Given the description of an element on the screen output the (x, y) to click on. 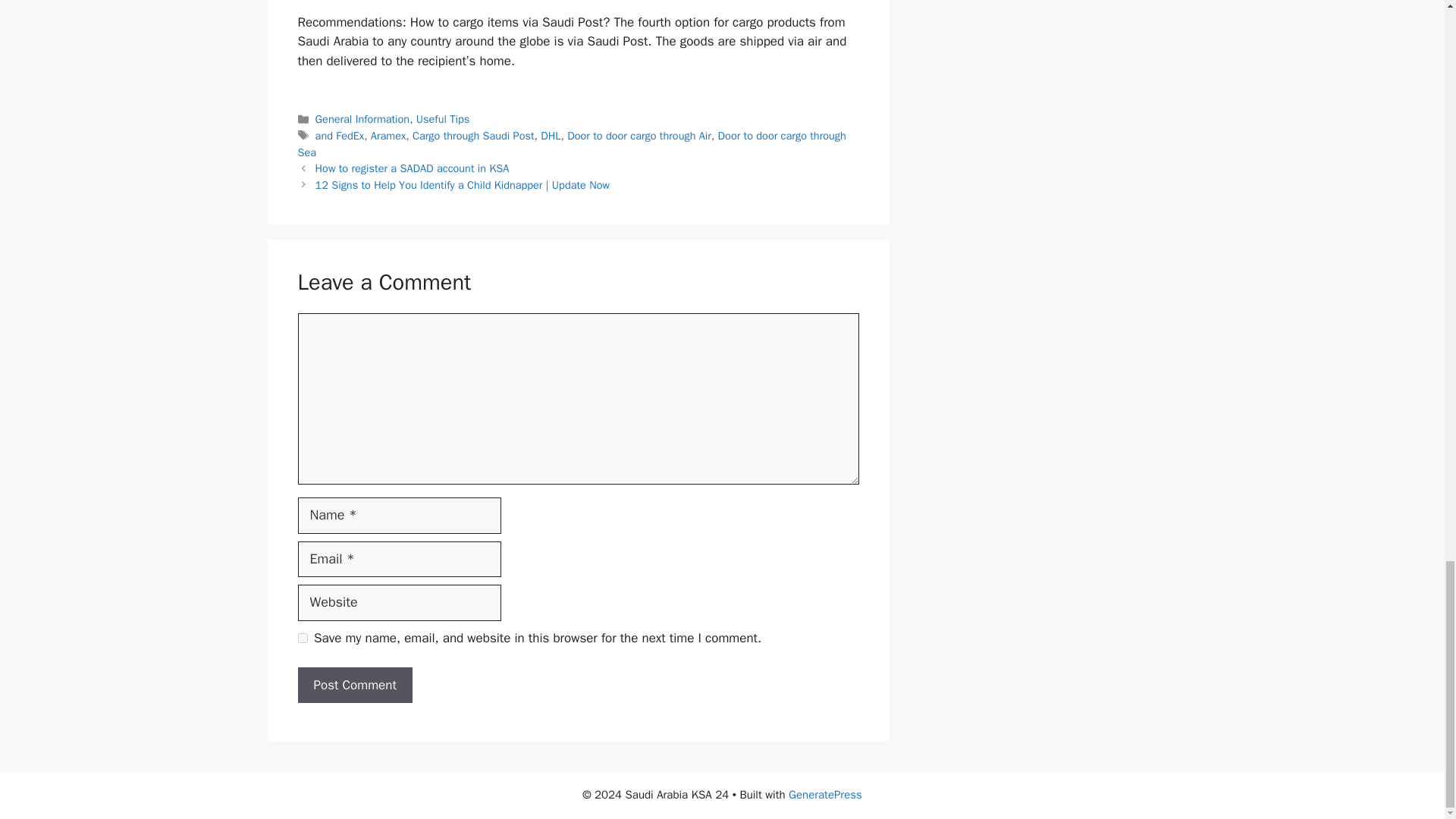
Cargo through Saudi Post (473, 135)
and FedEx (340, 135)
Aramex (388, 135)
Useful Tips (442, 119)
Post Comment (354, 685)
DHL (550, 135)
General Information (362, 119)
yes (302, 637)
